Given the description of an element on the screen output the (x, y) to click on. 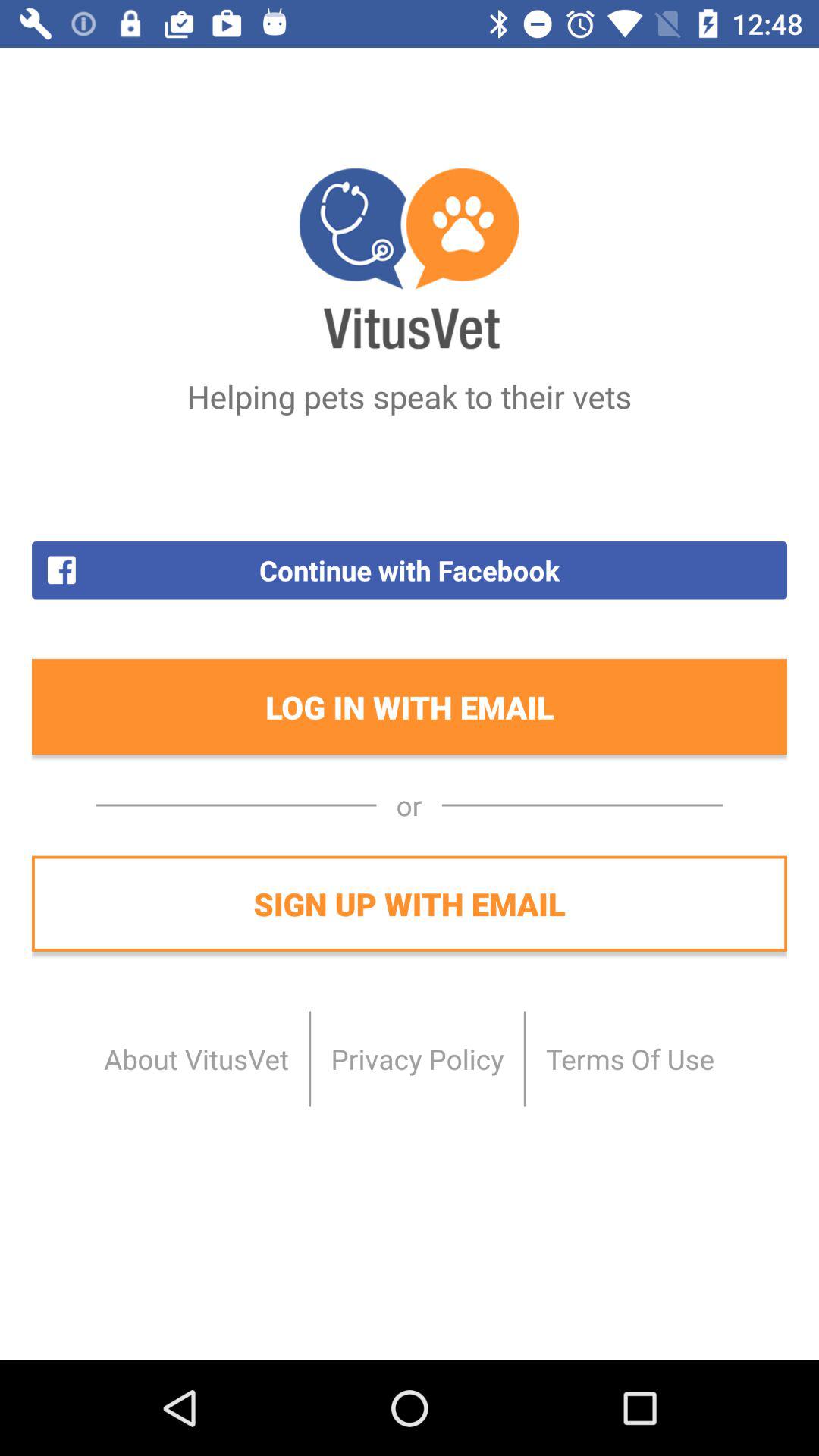
flip until about vitusvet item (196, 1058)
